Given the description of an element on the screen output the (x, y) to click on. 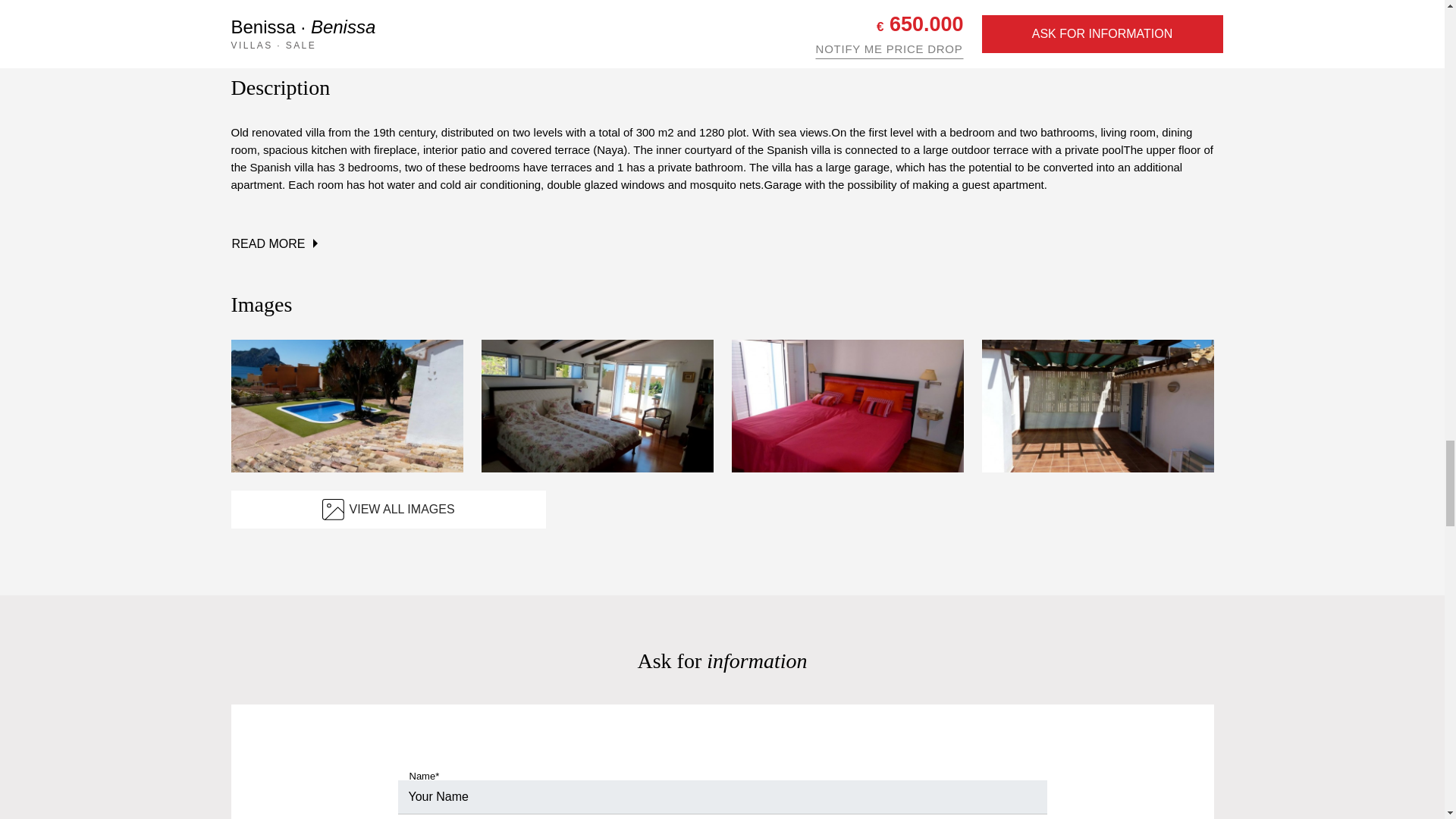
Sale - Villas - Benissa (596, 405)
Sale - Villas - Benissa (846, 405)
Sale - Villas - Benissa (1096, 405)
Sale - Villas - Benissa (346, 405)
